Given the description of an element on the screen output the (x, y) to click on. 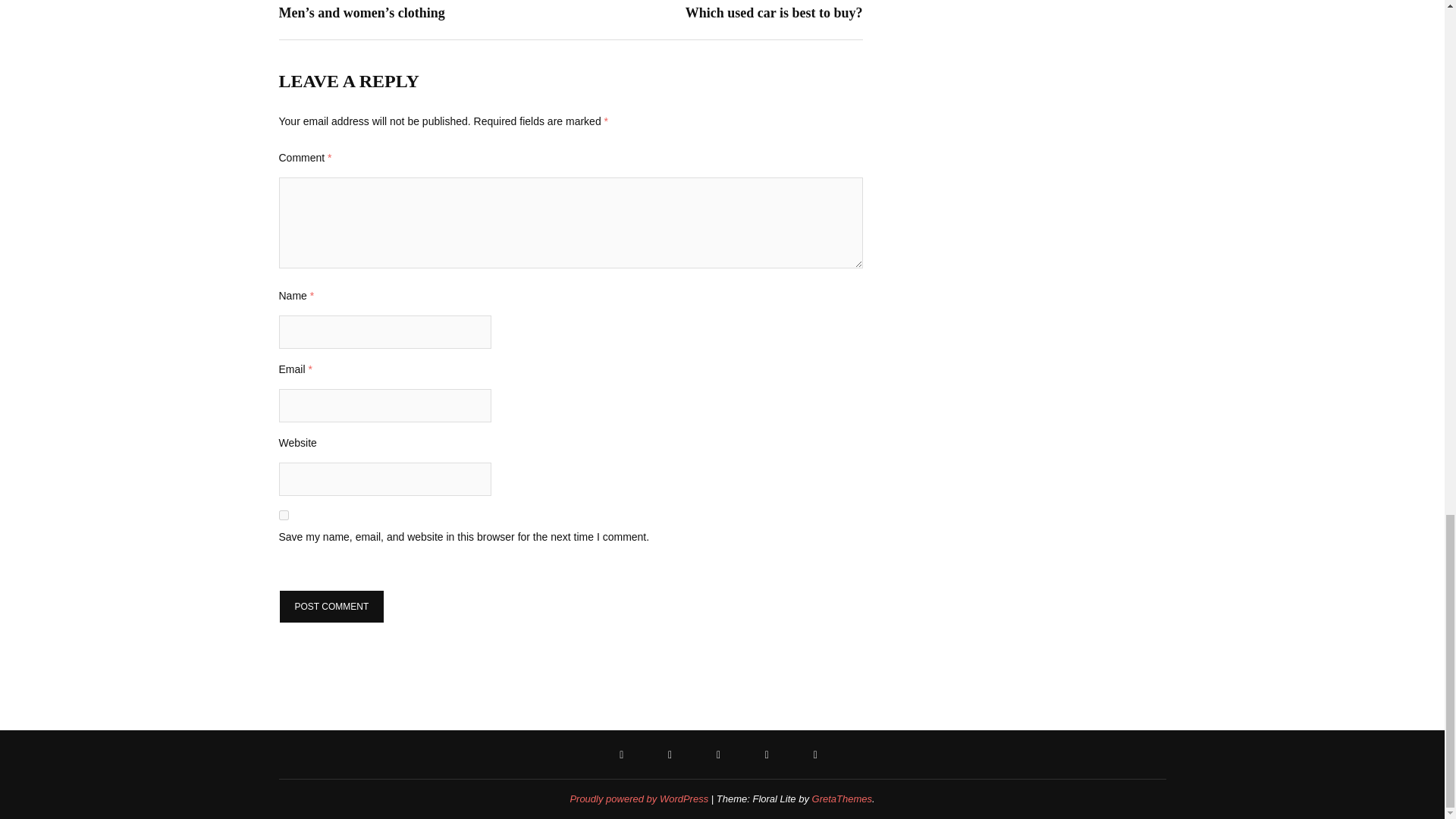
yes (283, 515)
FACEBOOK (723, 9)
INSTAGRAM (624, 754)
GretaThemes (673, 754)
Proudly powered by WordPress (842, 798)
TWITTER (639, 798)
YOUTUBE (818, 754)
Post Comment (769, 754)
Albaloo Instagram  (332, 606)
